Given the description of an element on the screen output the (x, y) to click on. 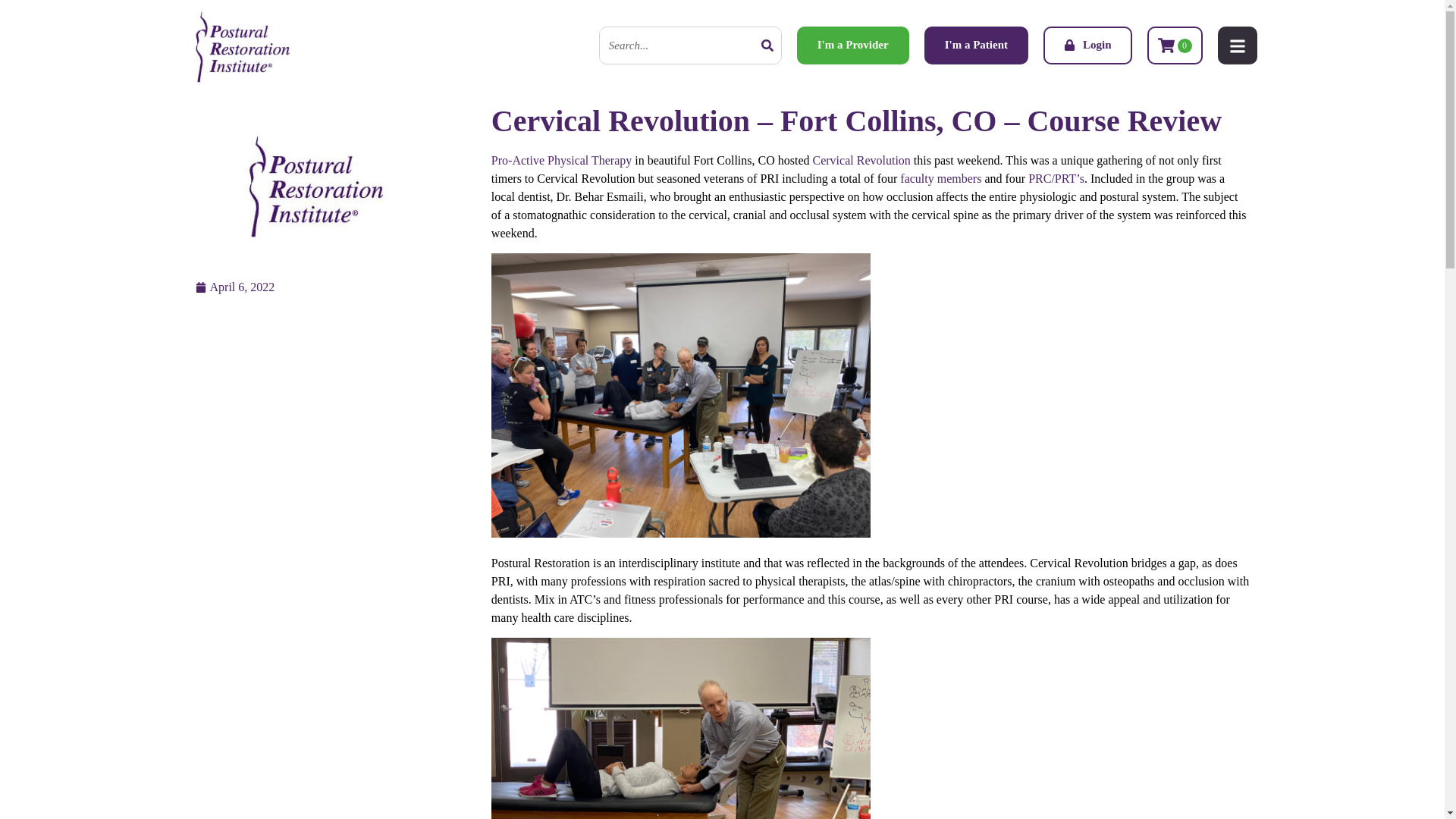
Pro-Active Physical Therapy (561, 160)
0 (1174, 45)
Login (1087, 45)
Cervical Revolution (861, 160)
I'm a Provider (852, 45)
faculty members (940, 178)
View your shopping cart (1174, 45)
I'm a Patient (975, 45)
April 6, 2022 (235, 287)
